Given the description of an element on the screen output the (x, y) to click on. 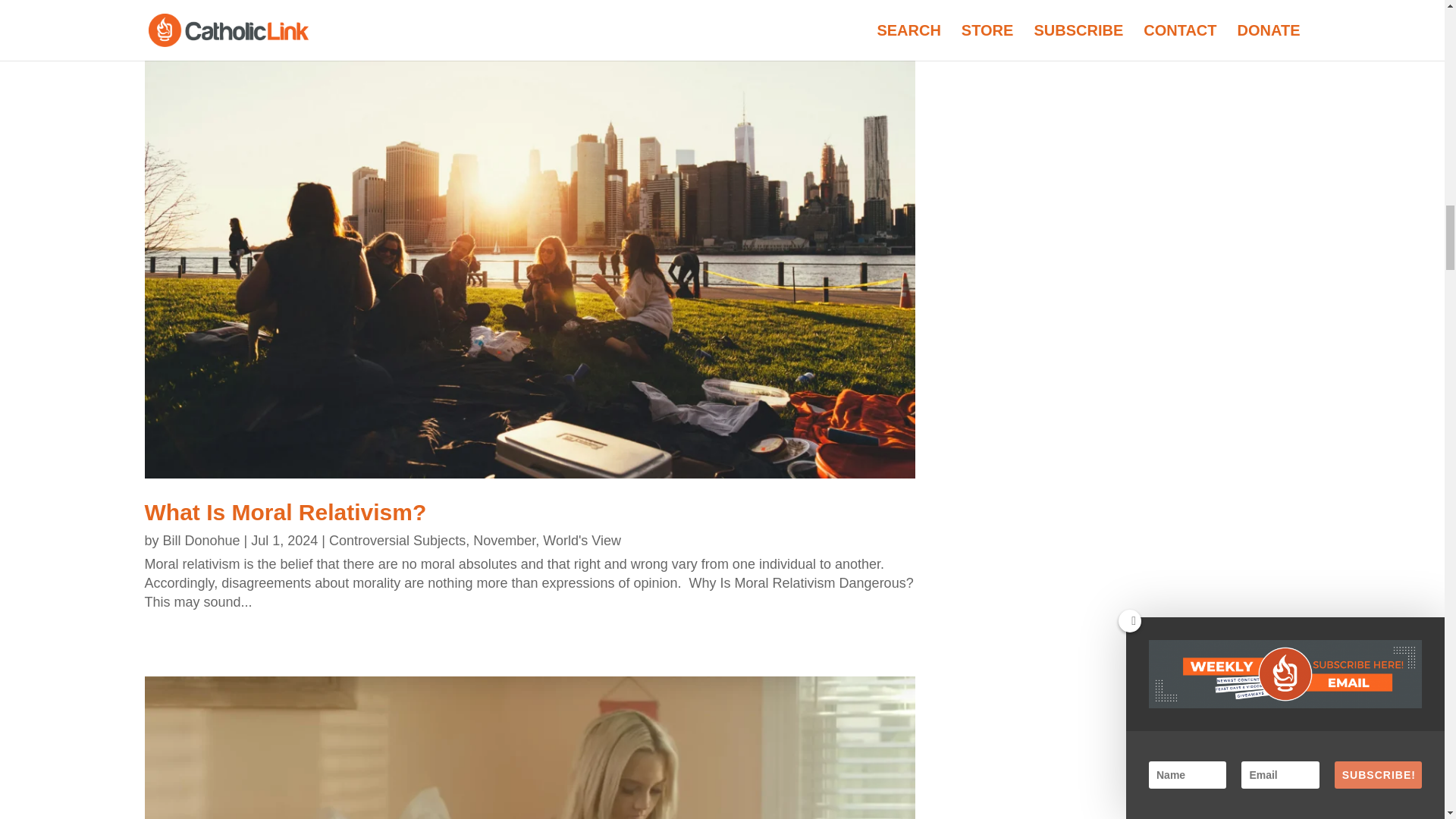
Posts by Bill Donohue (201, 539)
World's View (582, 539)
November (504, 539)
Controversial Subjects (397, 539)
What Is Moral Relativism? (285, 511)
Bill Donohue (201, 539)
